Given the description of an element on the screen output the (x, y) to click on. 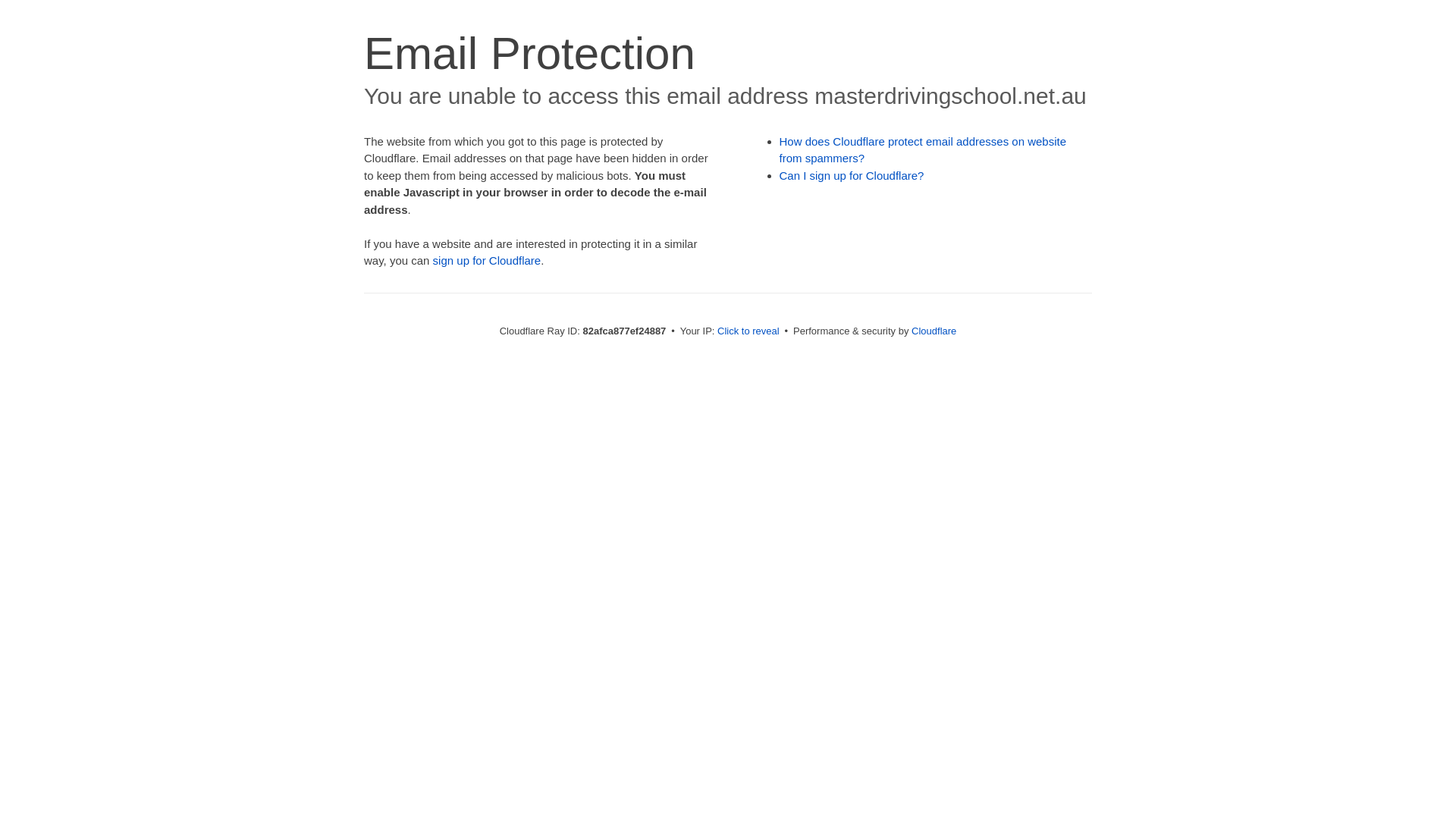
Can I sign up for Cloudflare? Element type: text (851, 175)
Click to reveal Element type: text (748, 330)
sign up for Cloudflare Element type: text (487, 260)
Cloudflare Element type: text (933, 330)
